Given the description of an element on the screen output the (x, y) to click on. 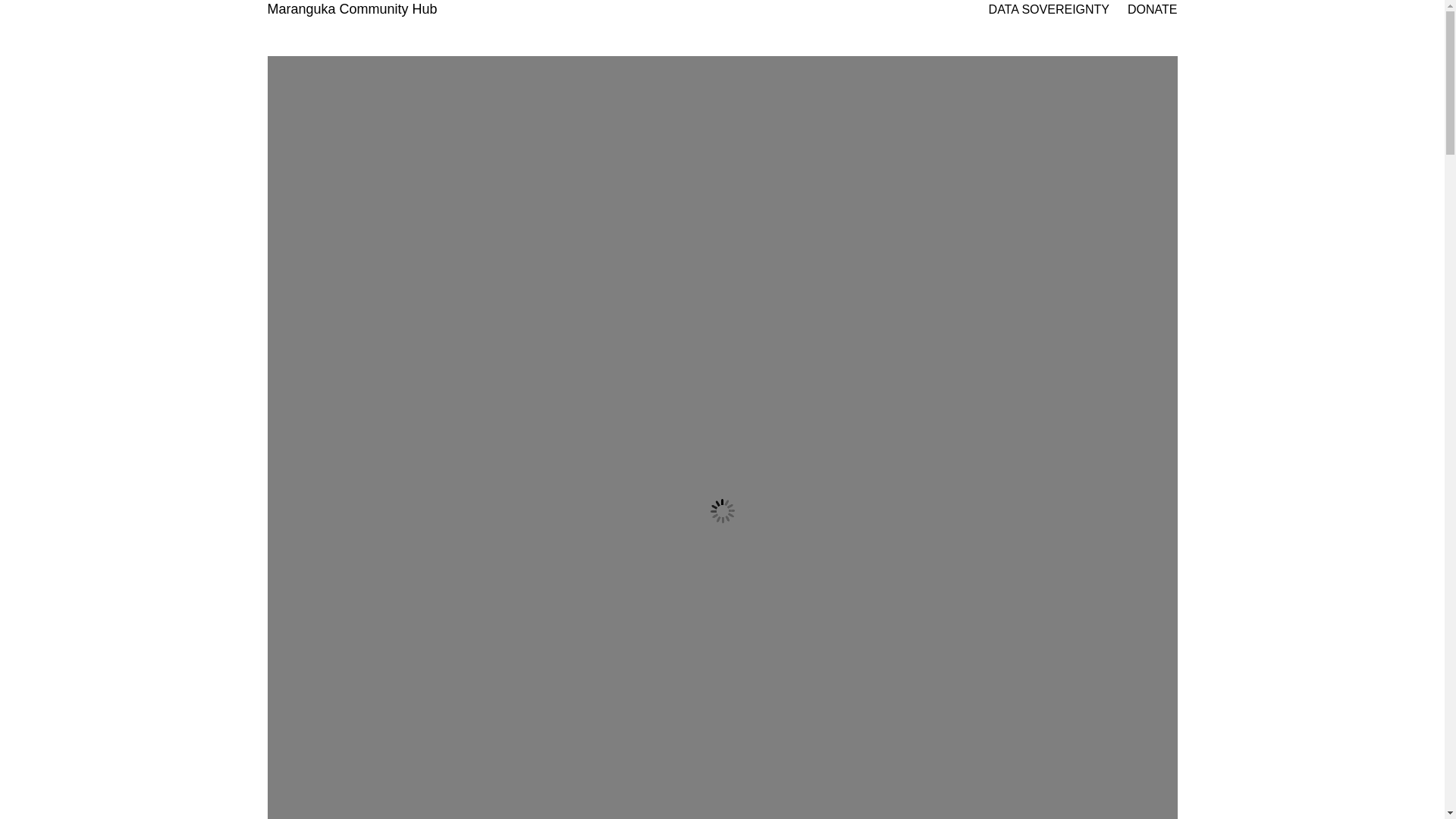
DONATE Element type: text (1151, 9)
Maranguka Community Hub Element type: text (351, 8)
DATA SOVEREIGNTY Element type: text (1048, 9)
